Given the description of an element on the screen output the (x, y) to click on. 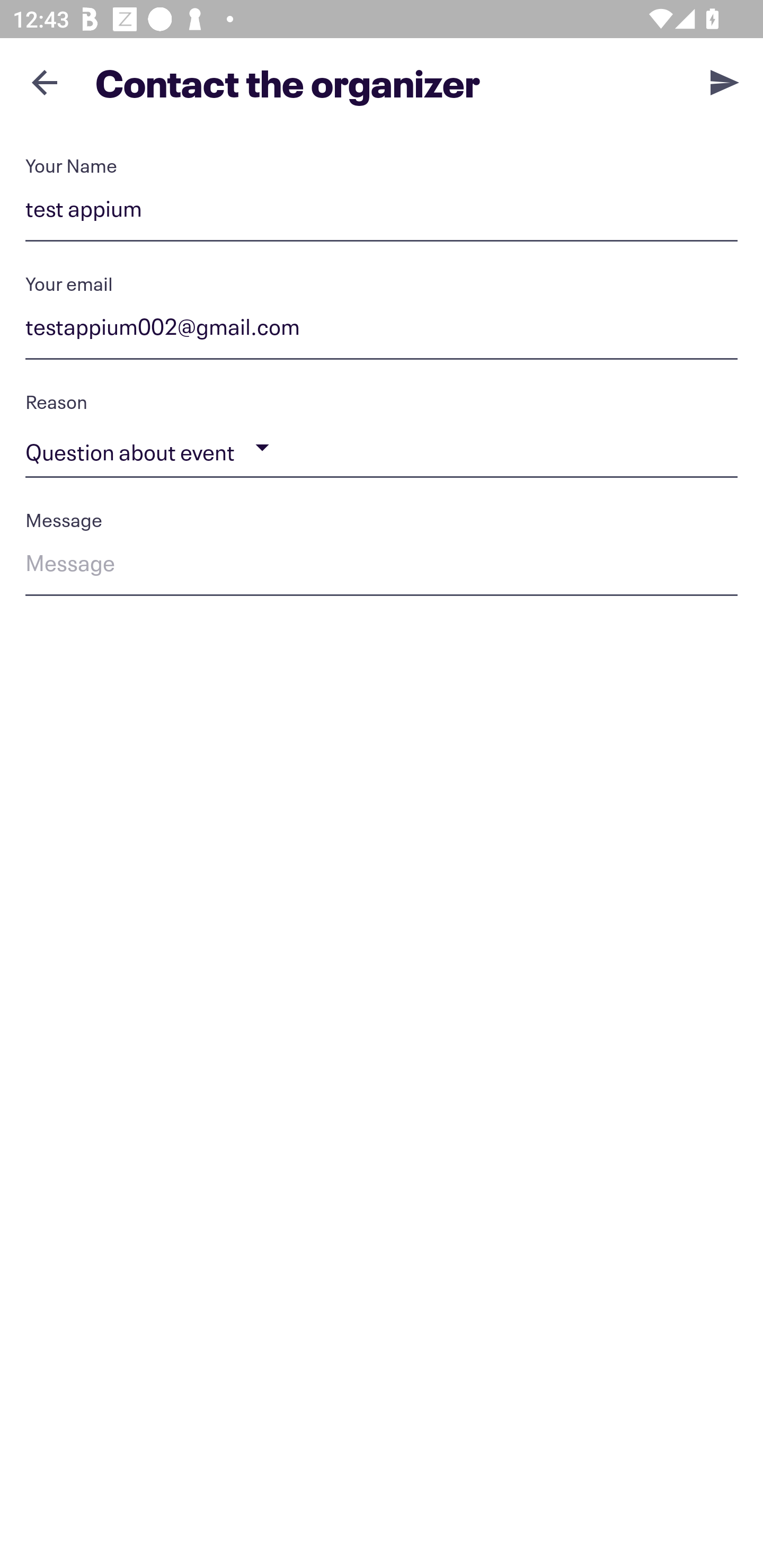
Navigate up (44, 82)
Send (724, 81)
test appium (381, 211)
testappium002@gmail.com (381, 329)
Question about event    (381, 447)
Message (381, 565)
